Given the description of an element on the screen output the (x, y) to click on. 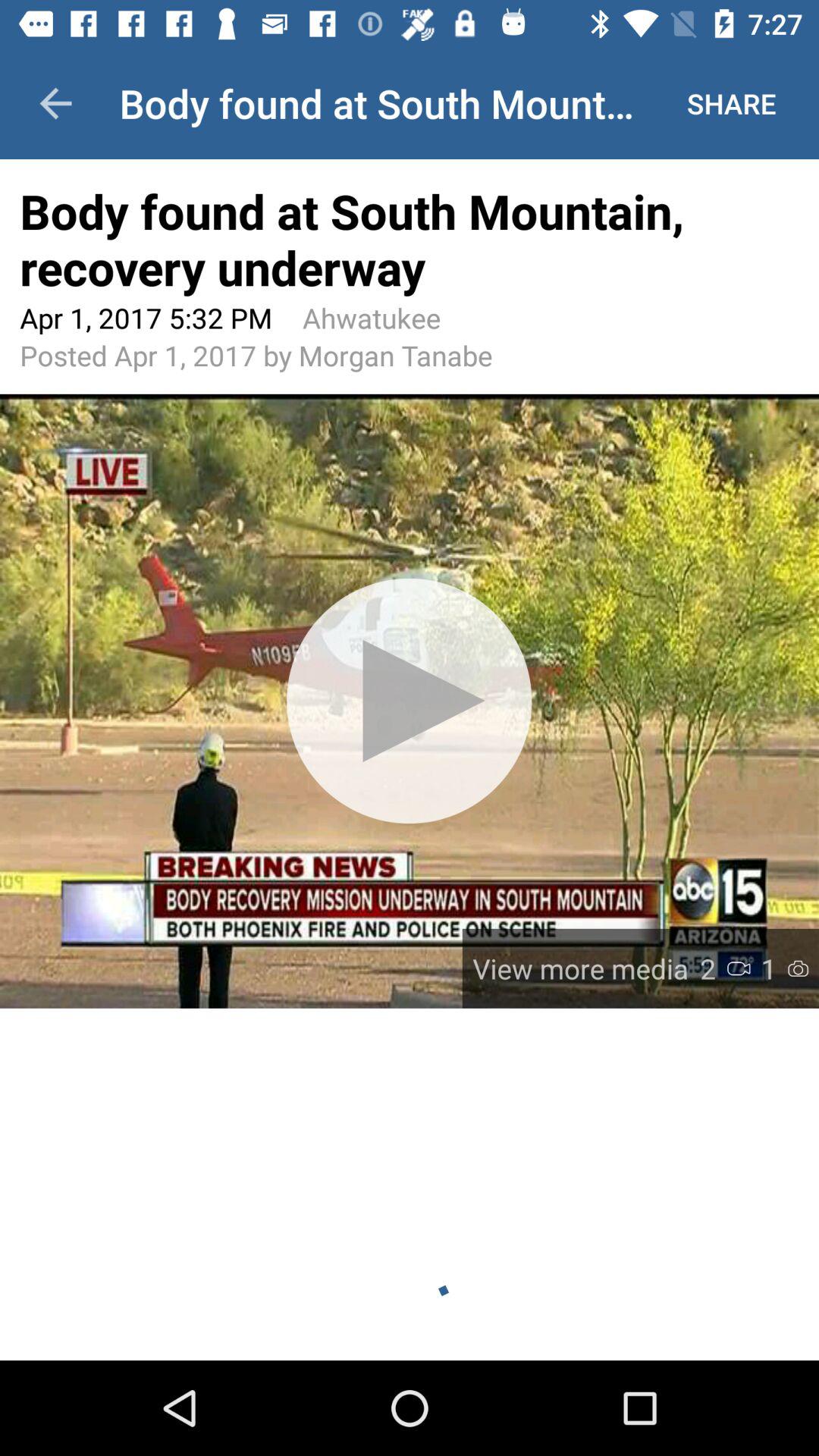
press app next to the body found at (55, 103)
